Given the description of an element on the screen output the (x, y) to click on. 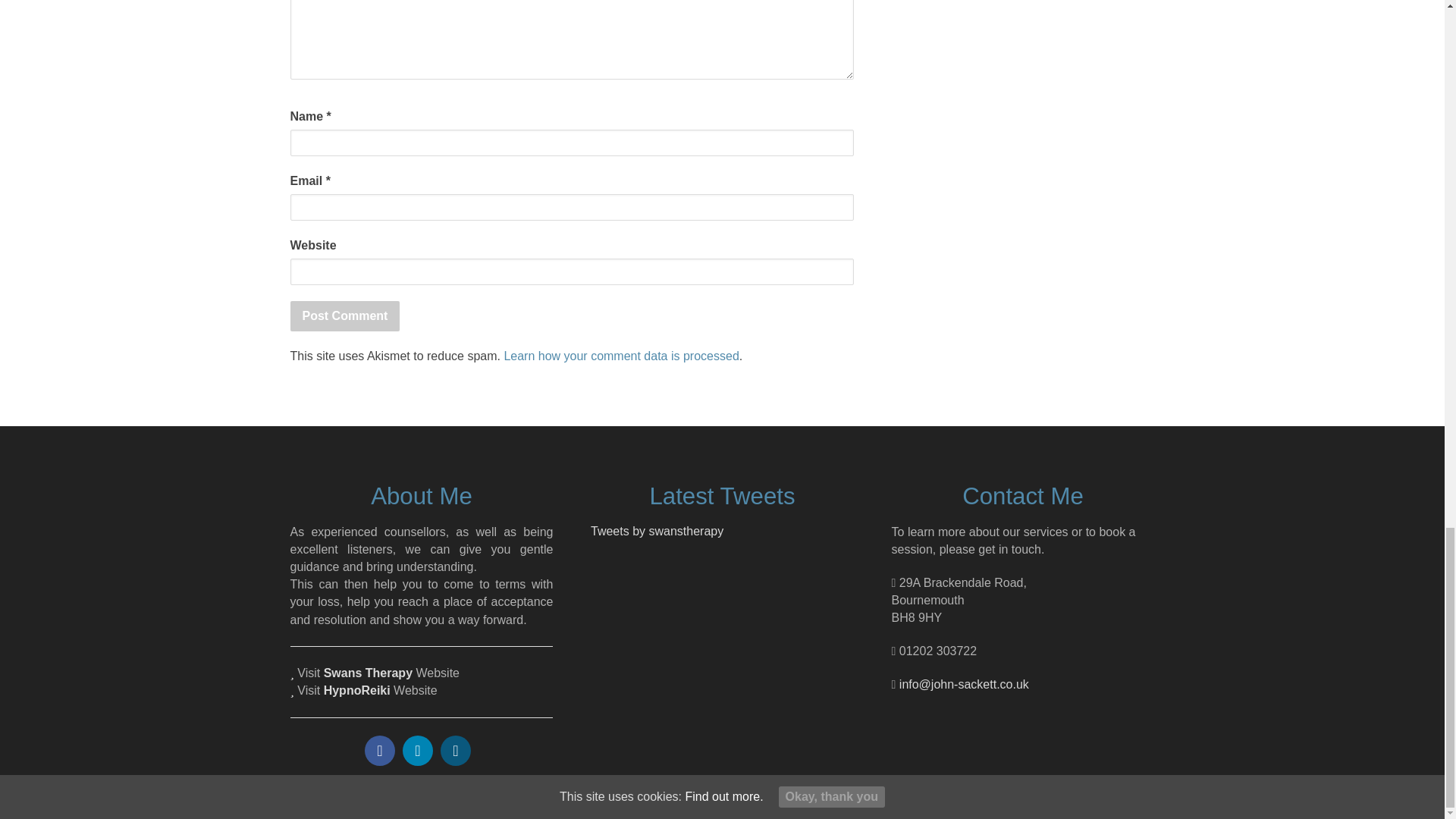
twitter (417, 750)
Learn how your comment data is processed (620, 355)
Swans Therapy (369, 672)
Post Comment (343, 316)
facebook (379, 750)
linkedin (455, 750)
Post Comment (343, 316)
Tweets by swanstherapy (657, 530)
HypnoReiki (356, 689)
